Given the description of an element on the screen output the (x, y) to click on. 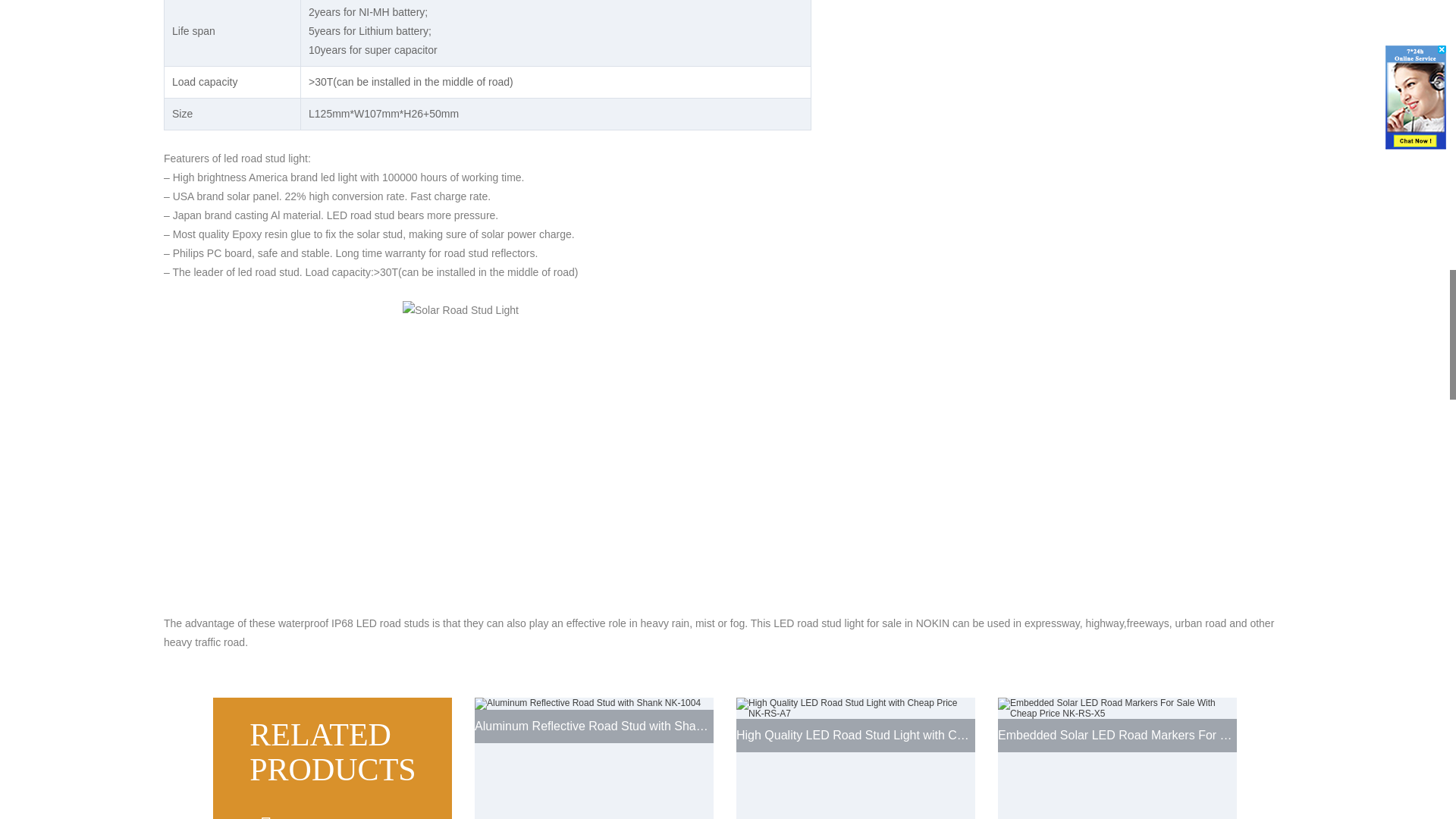
Aluminum Reflective Road Stud with Shank NK-1004 (593, 758)
High Quality LED Road Stud Light with Cheap Price NK-RS-A7 (855, 758)
RELATED PRODUCTS (331, 758)
Products (331, 758)
High Quality LED Road Stud Light with Cheap Price NK-RS-A7 (855, 758)
Aluminum Reflective Road Stud with Shank NK-1004 (593, 758)
